Given the description of an element on the screen output the (x, y) to click on. 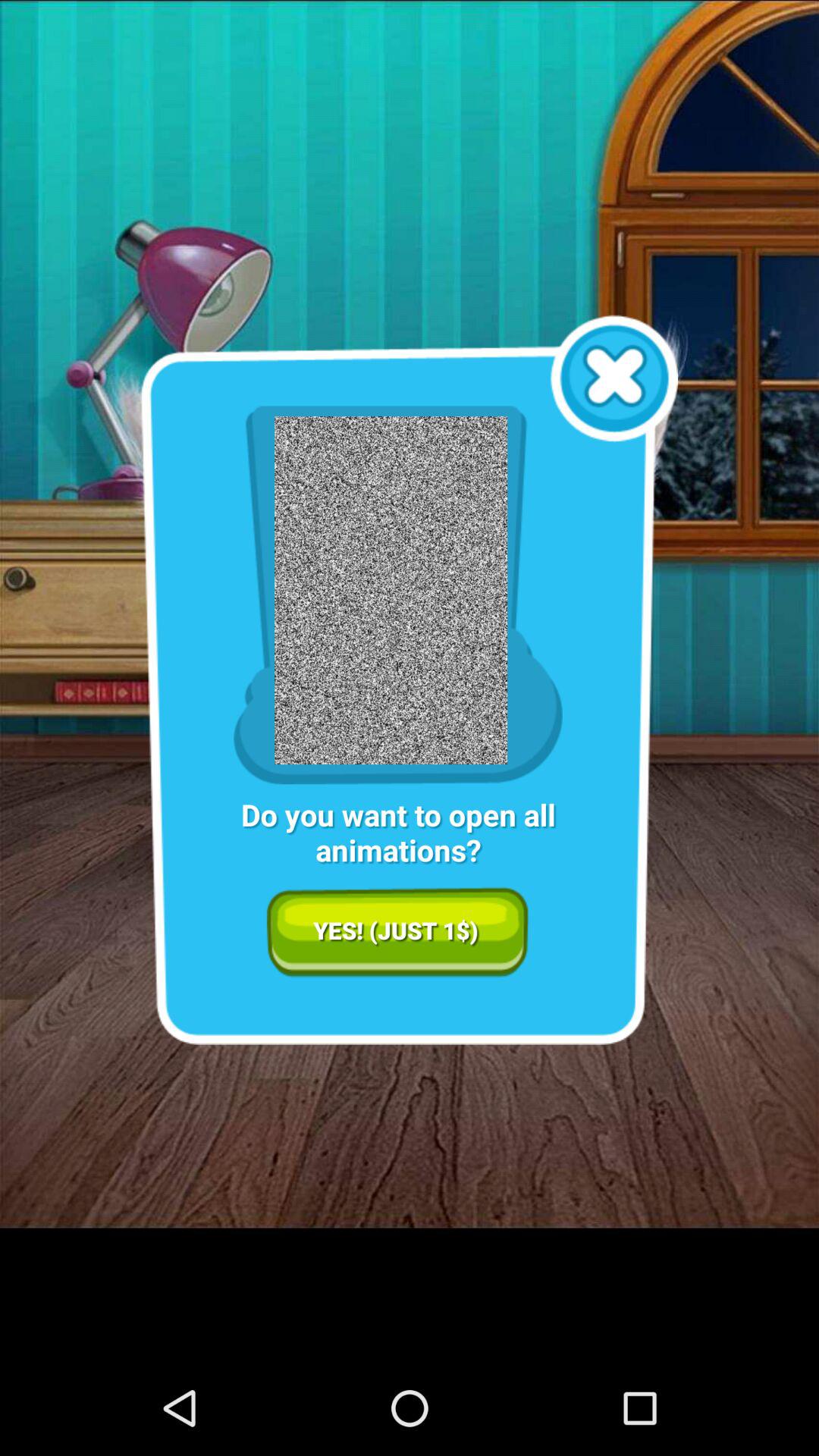
swipe to yes! (just 1$) (397, 931)
